Given the description of an element on the screen output the (x, y) to click on. 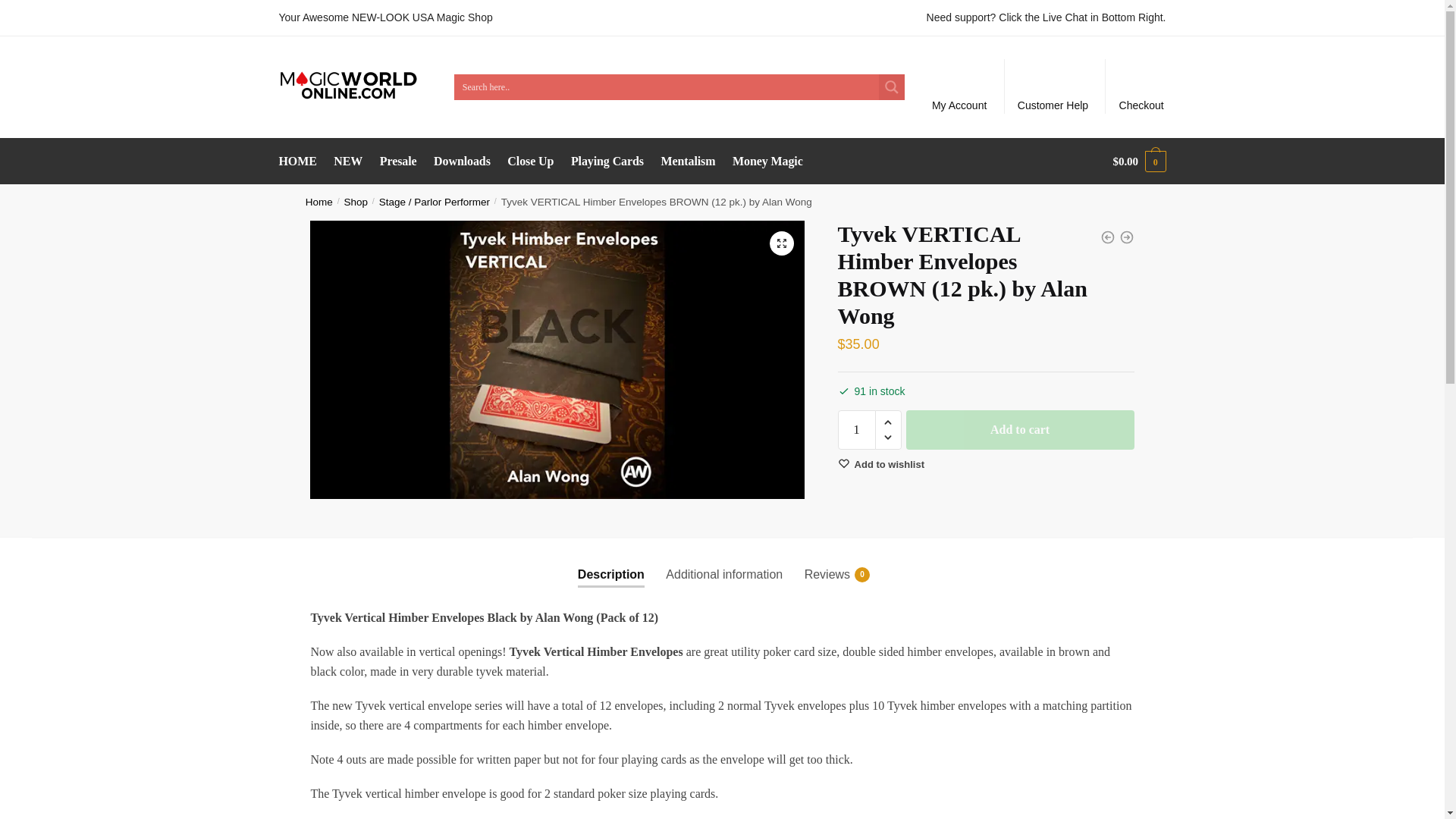
Home (319, 202)
Customer Help (1053, 86)
Money Magic (767, 161)
Shop (355, 202)
NEW (827, 562)
View your shopping cart (348, 161)
Checkout (1139, 161)
Description (1141, 86)
Presale (611, 562)
